Given the description of an element on the screen output the (x, y) to click on. 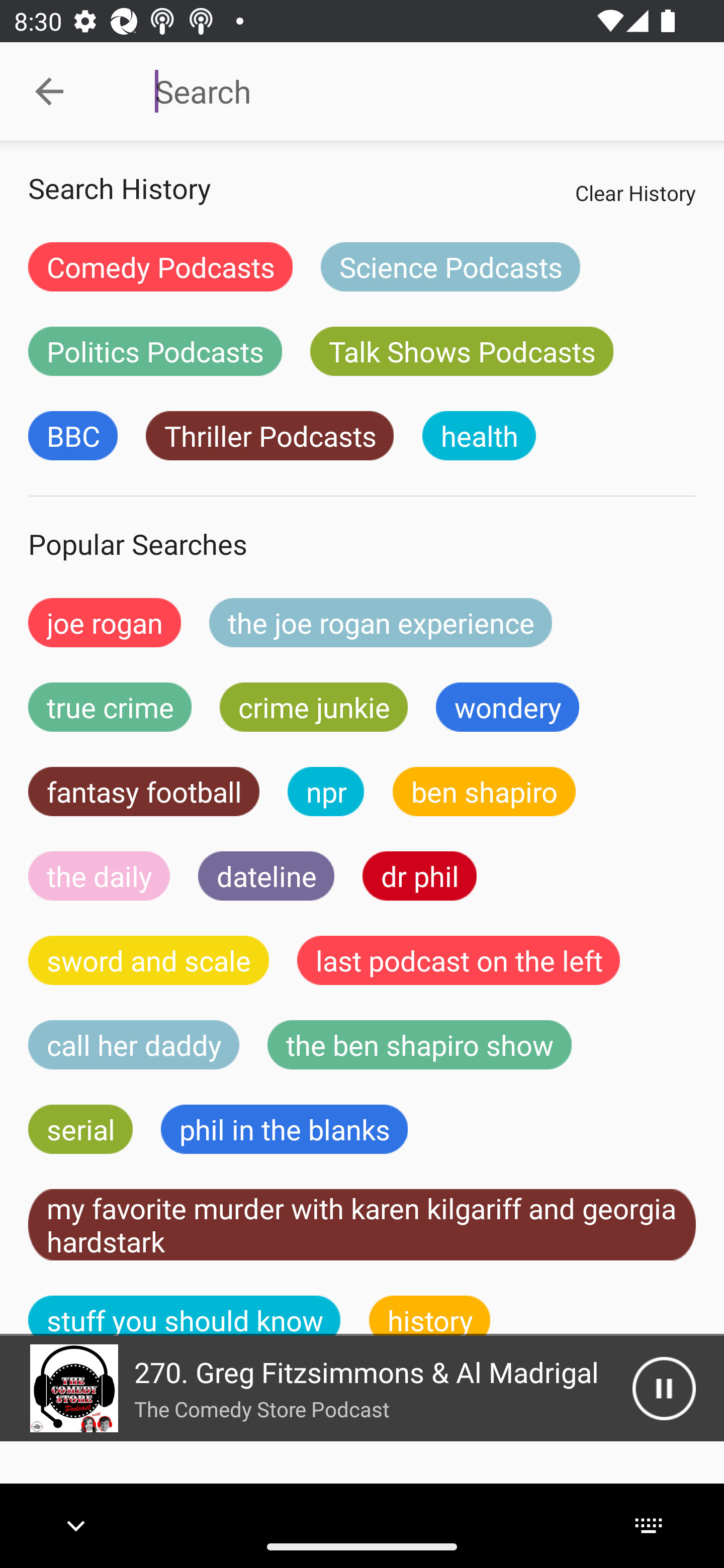
Collapse (49, 91)
Search (407, 91)
Clear History (634, 192)
Comedy Podcasts (160, 266)
Science Podcasts (449, 266)
Politics Podcasts (155, 351)
Talk Shows Podcasts (461, 351)
BBC (72, 435)
Thriller Podcasts (269, 435)
health (478, 435)
joe rogan (104, 622)
the joe rogan experience (380, 622)
true crime (109, 707)
crime junkie (313, 707)
wondery (507, 707)
fantasy football (143, 791)
npr (325, 791)
ben shapiro (483, 791)
the daily (99, 875)
dateline (266, 875)
dr phil (419, 875)
sword and scale (148, 960)
last podcast on the left (458, 960)
call her daddy (133, 1044)
the ben shapiro show (419, 1044)
serial (80, 1128)
phil in the blanks (283, 1128)
stuff you should know (184, 1315)
history (429, 1315)
Pause (663, 1388)
